Given the description of an element on the screen output the (x, y) to click on. 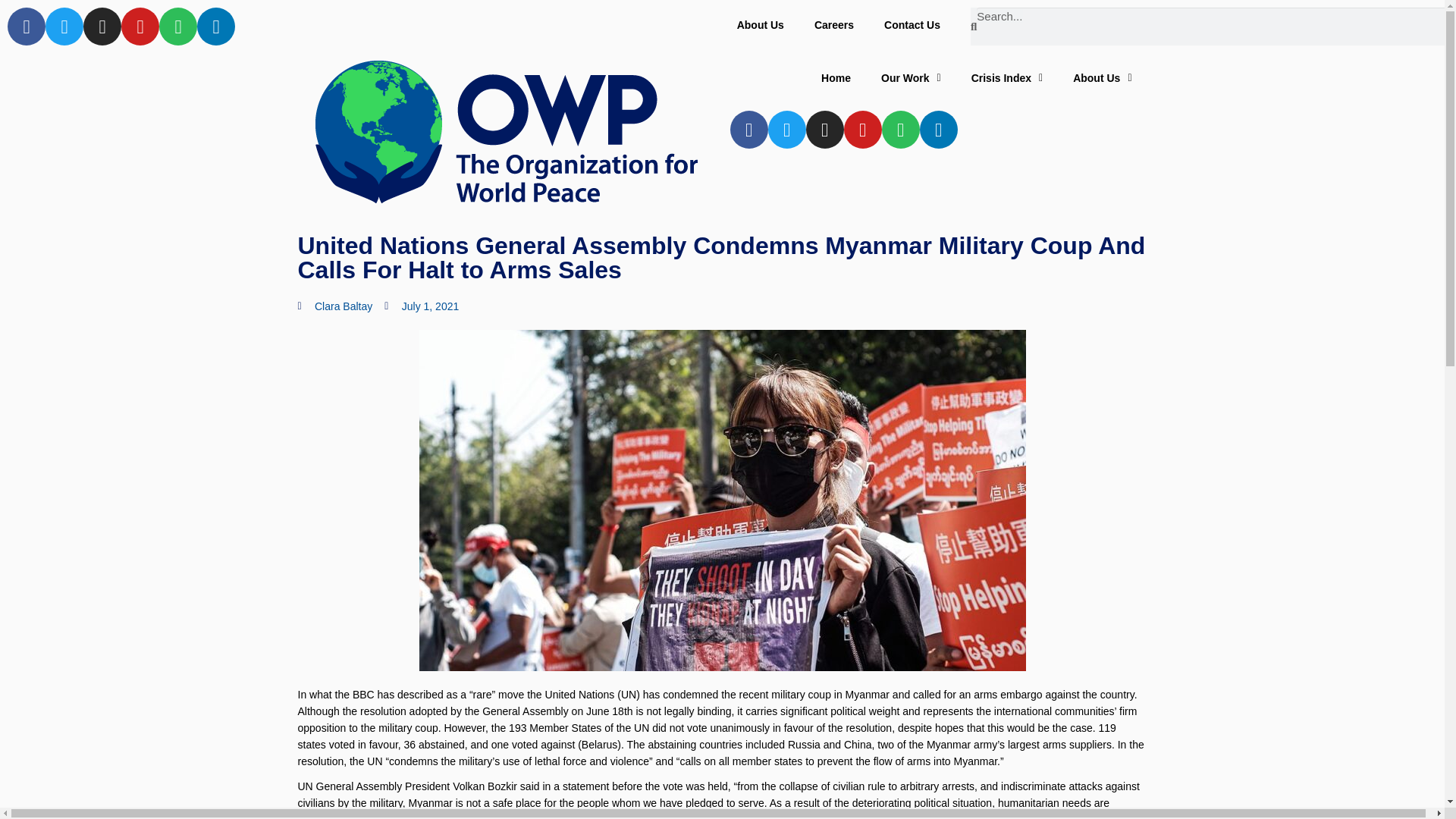
Our Work (911, 77)
Careers (834, 24)
About Us (1102, 77)
Contact Us (912, 24)
Home (836, 77)
About Us (760, 24)
Crisis Index (1007, 77)
